Given the description of an element on the screen output the (x, y) to click on. 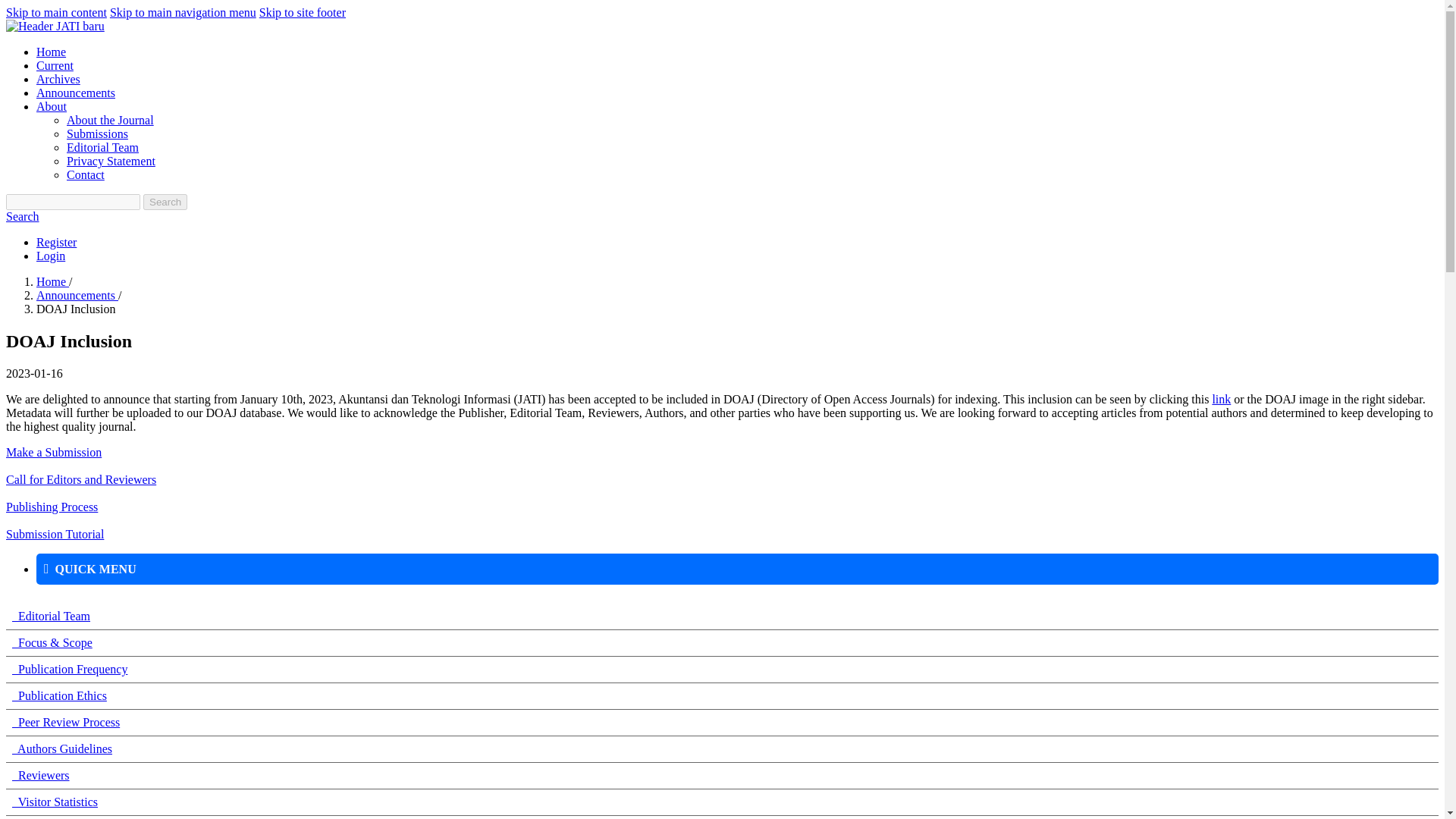
Submissions (97, 133)
SUBMISSION TUTORIAL (54, 533)
  Authors Guidelines (61, 748)
Skip to main content (55, 11)
Archives (58, 78)
Publishing Process (51, 506)
Register (56, 241)
Skip to main navigation menu (183, 11)
Home (52, 281)
link (1220, 399)
About the Journal (110, 119)
  Publication Frequency (69, 668)
Editorial Team (102, 146)
Announcements (76, 295)
Publishing Process (51, 506)
